Given the description of an element on the screen output the (x, y) to click on. 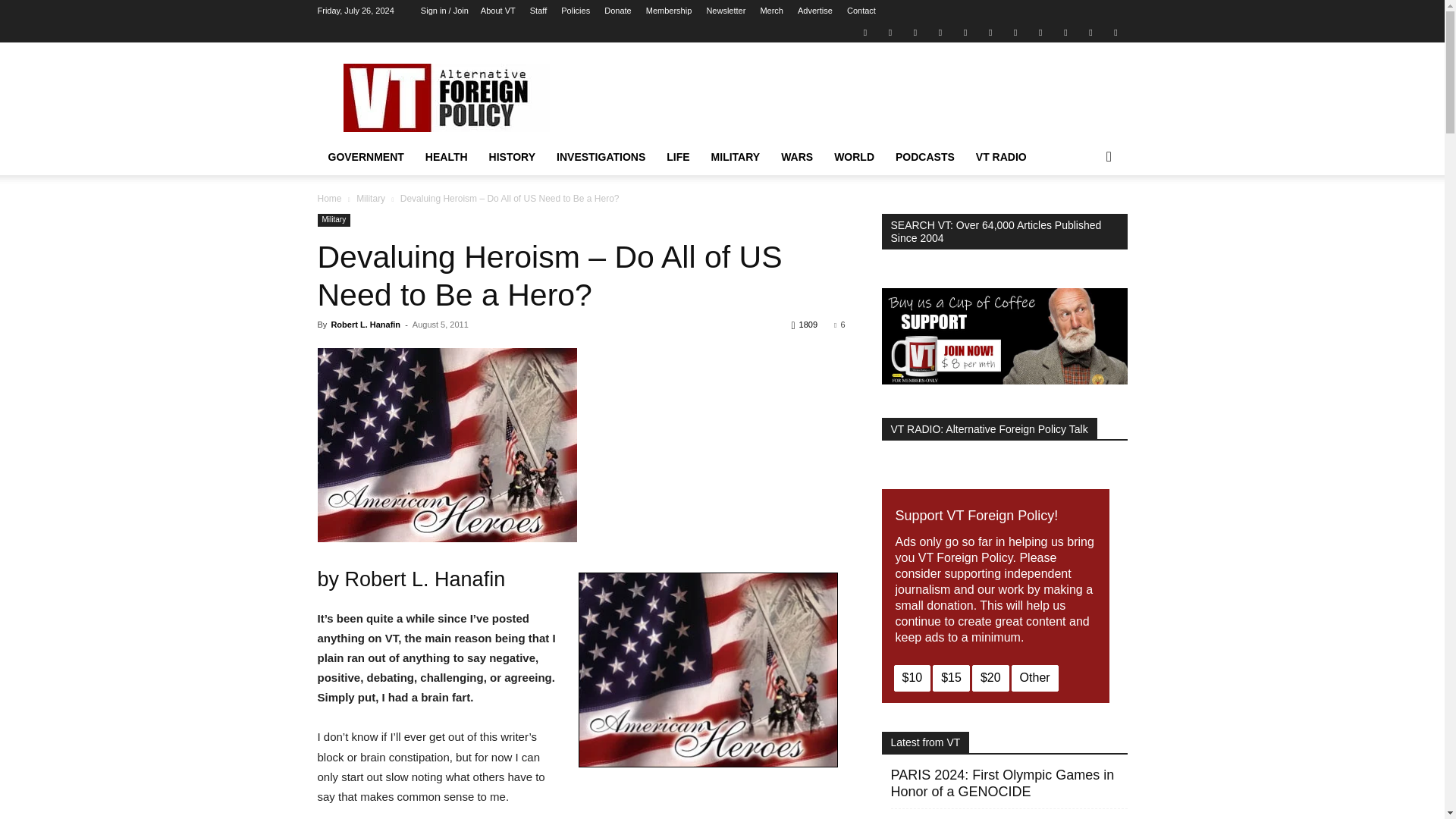
Newsletter (725, 10)
Rumble (964, 31)
Policies (574, 10)
About VT (497, 10)
Mail (915, 31)
Membership (669, 10)
Advertise (814, 10)
Facebook (890, 31)
Merch (771, 10)
Reddit (940, 31)
Contact (861, 10)
Blogger (864, 31)
Staff (538, 10)
Donate (617, 10)
